Given the description of an element on the screen output the (x, y) to click on. 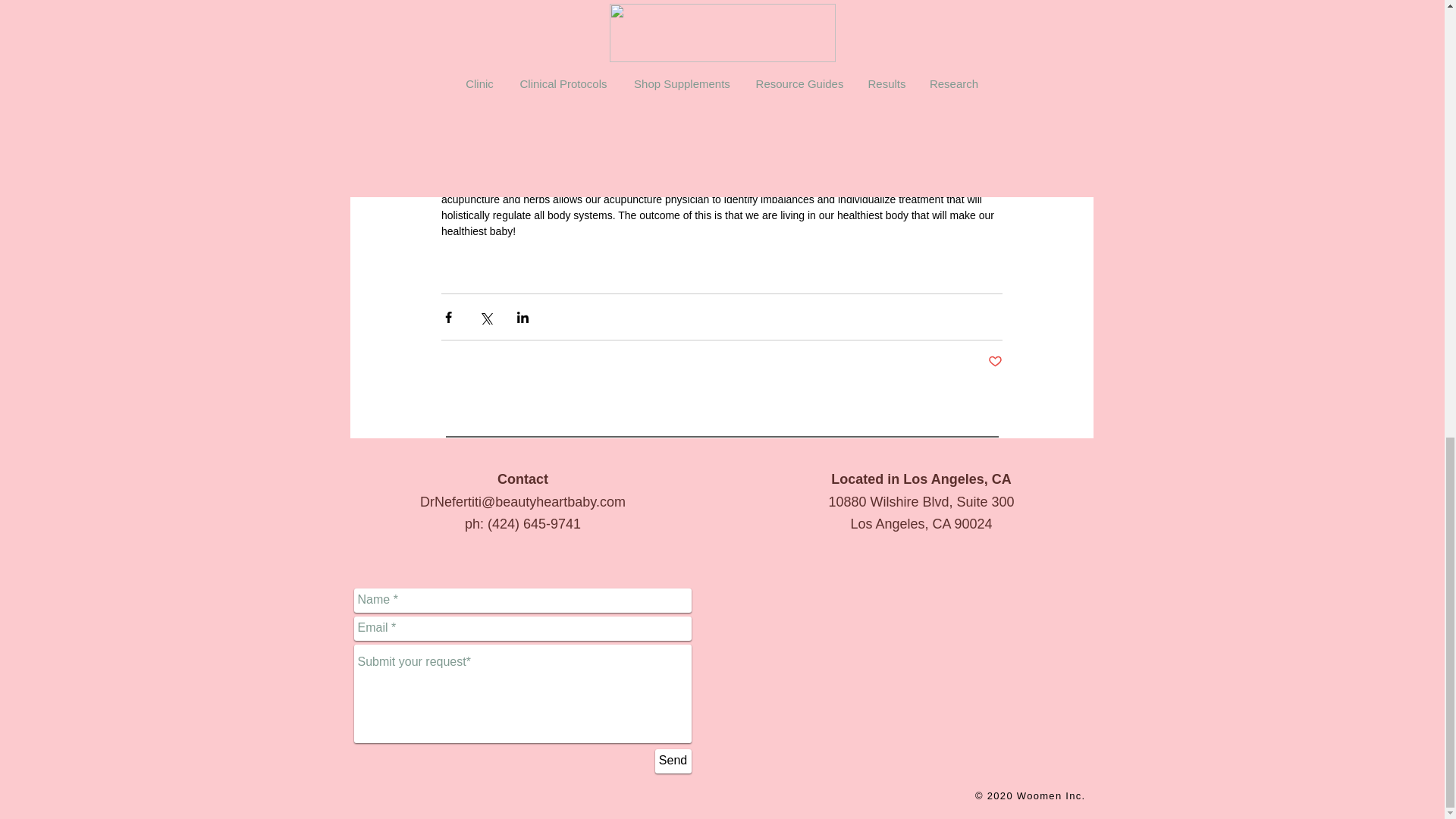
Post not marked as liked (994, 361)
Google Maps (920, 678)
Send (673, 761)
